Given the description of an element on the screen output the (x, y) to click on. 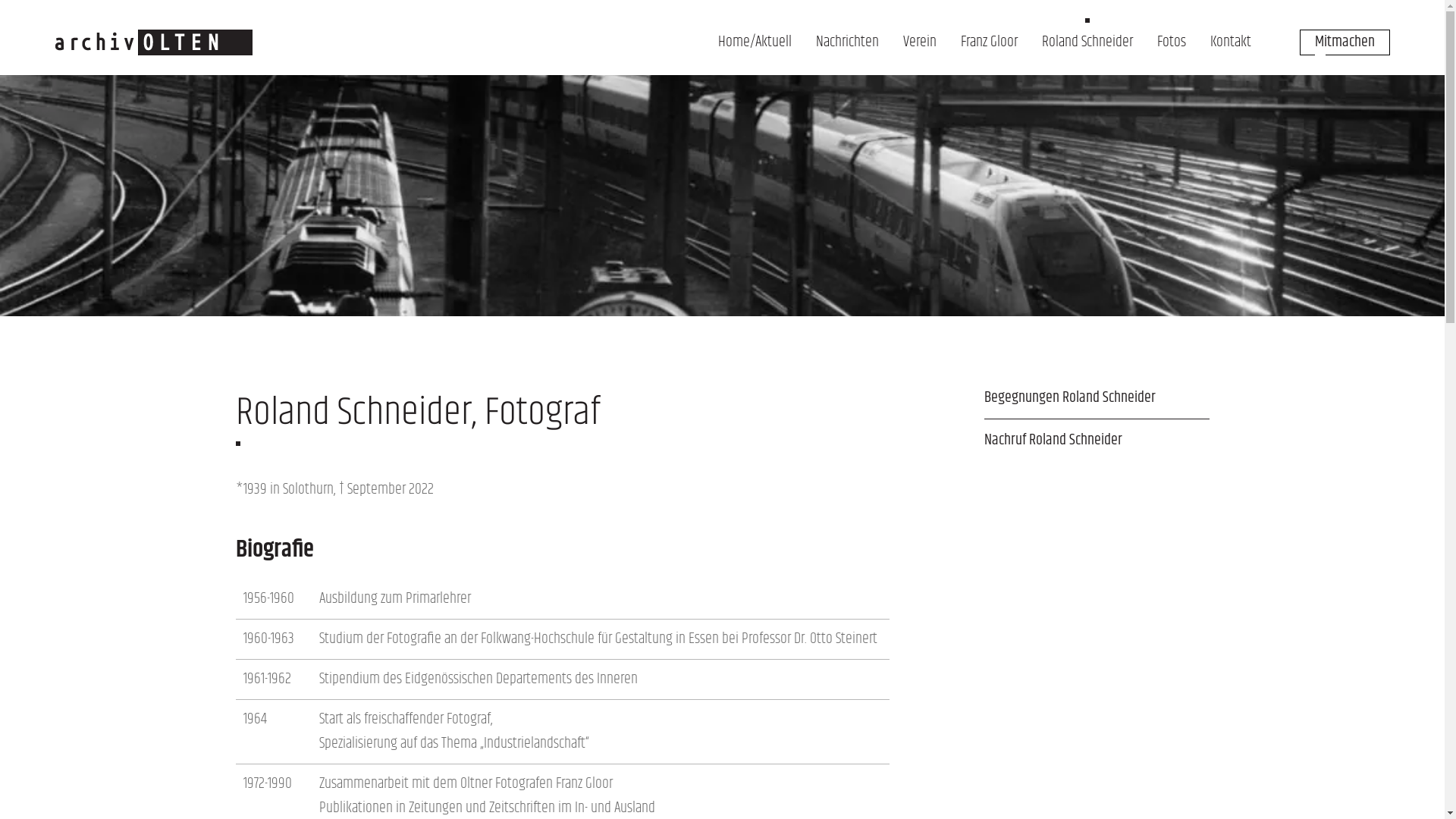
Mitmachen Element type: text (1344, 42)
Home/Aktuell Element type: text (753, 41)
  Element type: text (717, 65)
Nachrichten Element type: text (846, 41)
Verein Element type: text (918, 41)
Fotos Element type: text (1171, 41)
Franz Gloor Element type: text (988, 41)
Nachruf Roland Schneider Element type: text (1096, 440)
  Element type: text (982, 475)
Begegnungen Roland Schneider Element type: text (1096, 397)
Kontakt Element type: text (1230, 41)
